Given the description of an element on the screen output the (x, y) to click on. 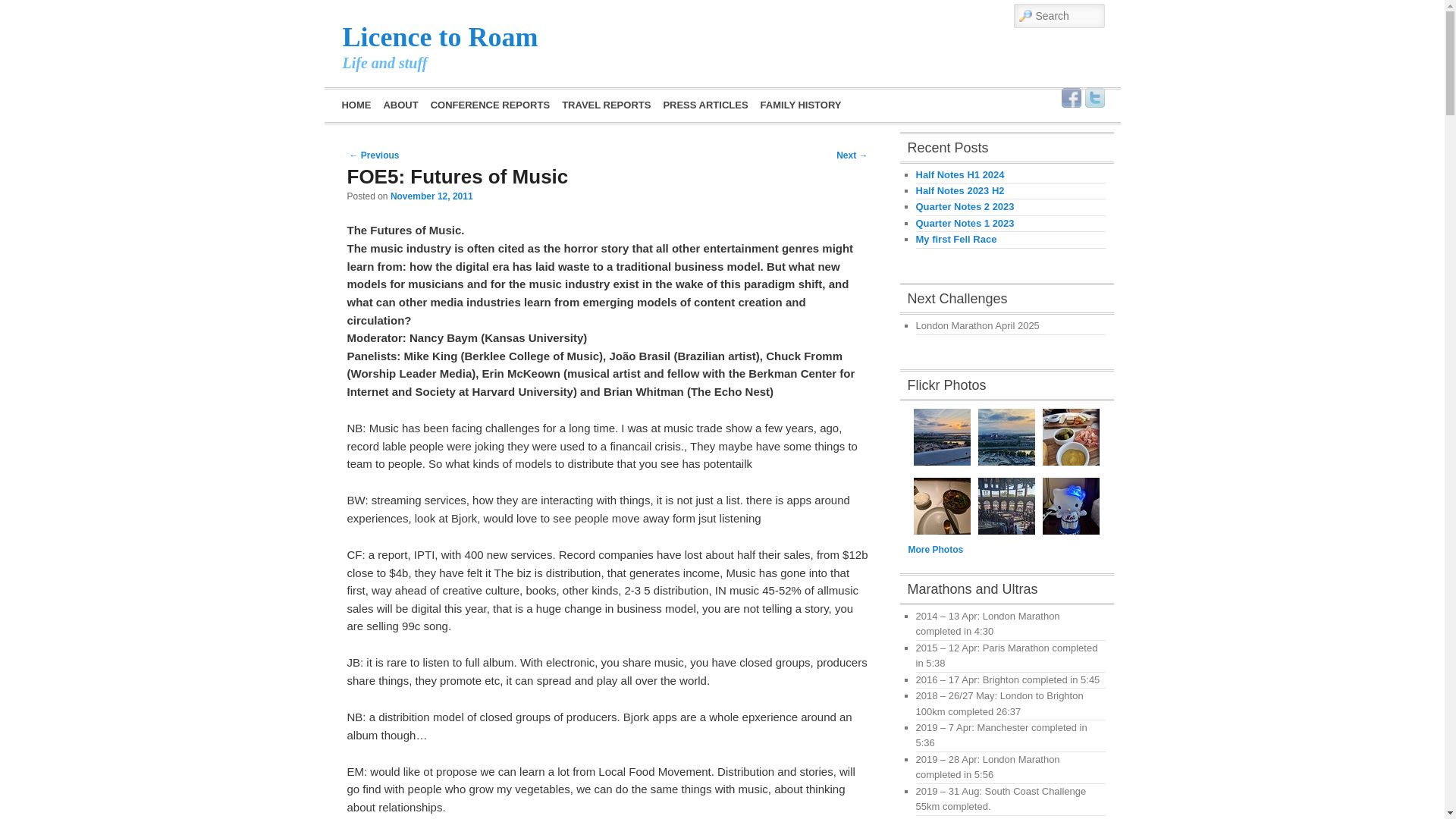
Quarter Notes 1 2023 (964, 223)
ABOUT (400, 105)
Licence to Roam (440, 37)
US Baseball Trip, May 2024 (942, 437)
Half Notes H1 2024 (959, 173)
Quarter Notes 2 2023 (964, 206)
Licence to Roam (440, 37)
US Baseball Trip, May 2024 (1006, 437)
SKIP TO PRIMARY CONTENT (420, 103)
CONFERENCE REPORTS (490, 105)
FAMILY HISTORY (800, 105)
TRAVEL REPORTS (606, 105)
My first Fell Race (956, 238)
November 12, 2011 (431, 195)
Half Notes 2023 H2 (959, 190)
